Given the description of an element on the screen output the (x, y) to click on. 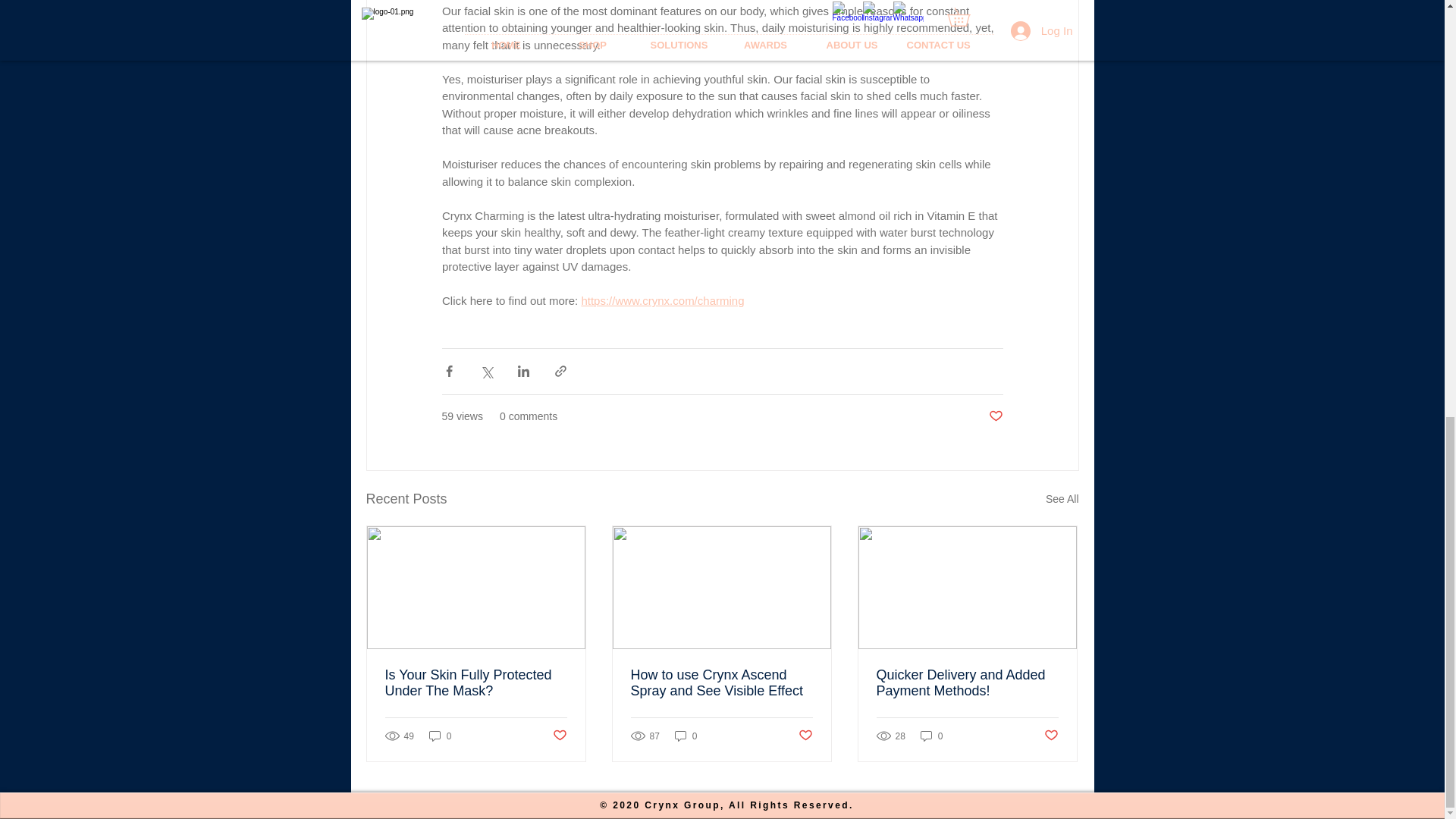
Post not marked as liked (1050, 735)
Post not marked as liked (995, 416)
0 (685, 735)
0 (931, 735)
Quicker Delivery and Added Payment Methods! (967, 683)
0 (440, 735)
See All (1061, 499)
Post not marked as liked (804, 735)
Post not marked as liked (558, 735)
How to use Crynx Ascend Spray and See Visible Effect (721, 683)
Is Your Skin Fully Protected Under The Mask? (476, 683)
